Given the description of an element on the screen output the (x, y) to click on. 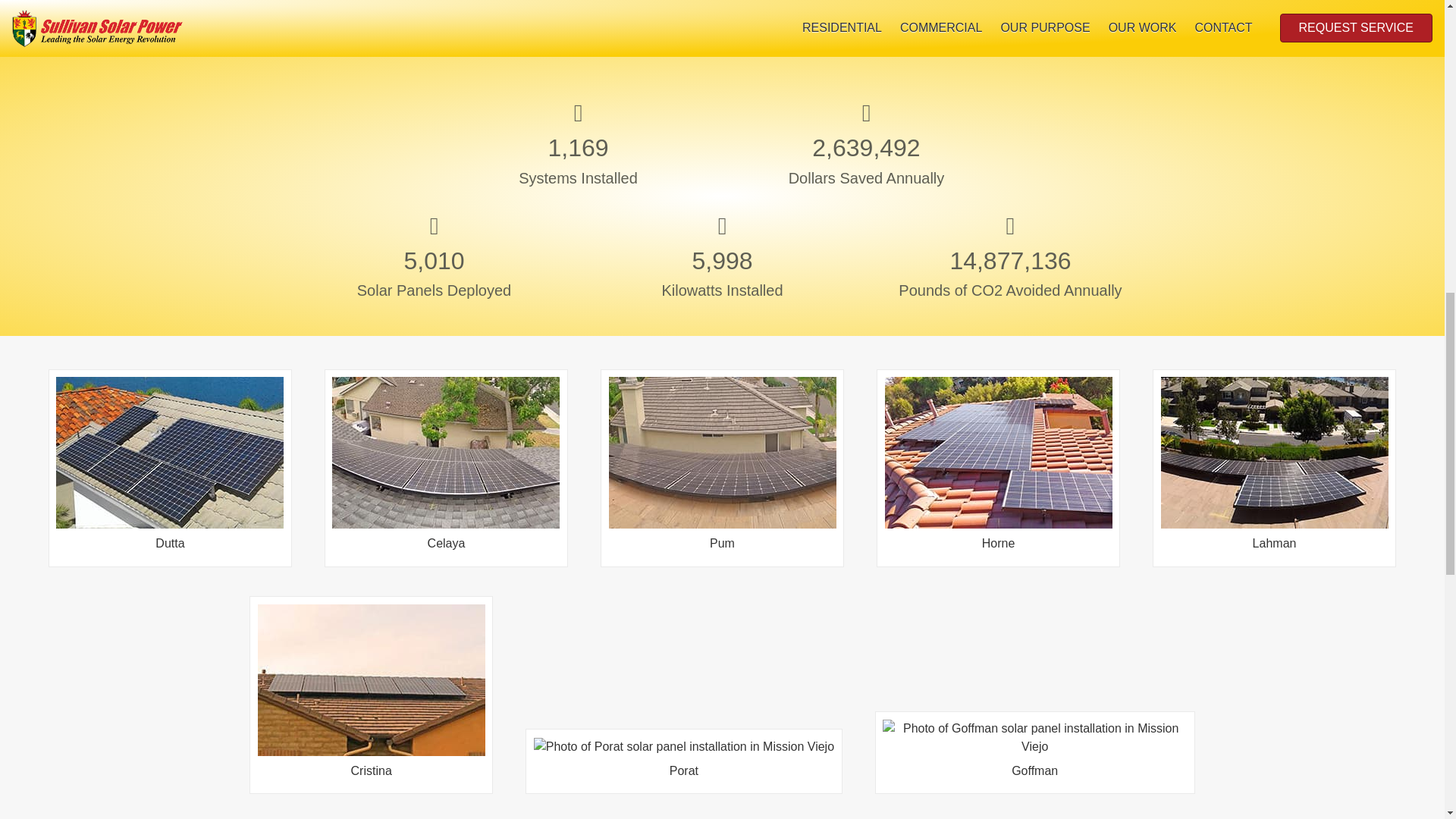
Goffman (1034, 758)
Dutta (169, 501)
Cristina (370, 729)
Porat (684, 762)
Celaya (445, 501)
Lahman (1274, 501)
Pum (721, 501)
Horne (998, 501)
